Given the description of an element on the screen output the (x, y) to click on. 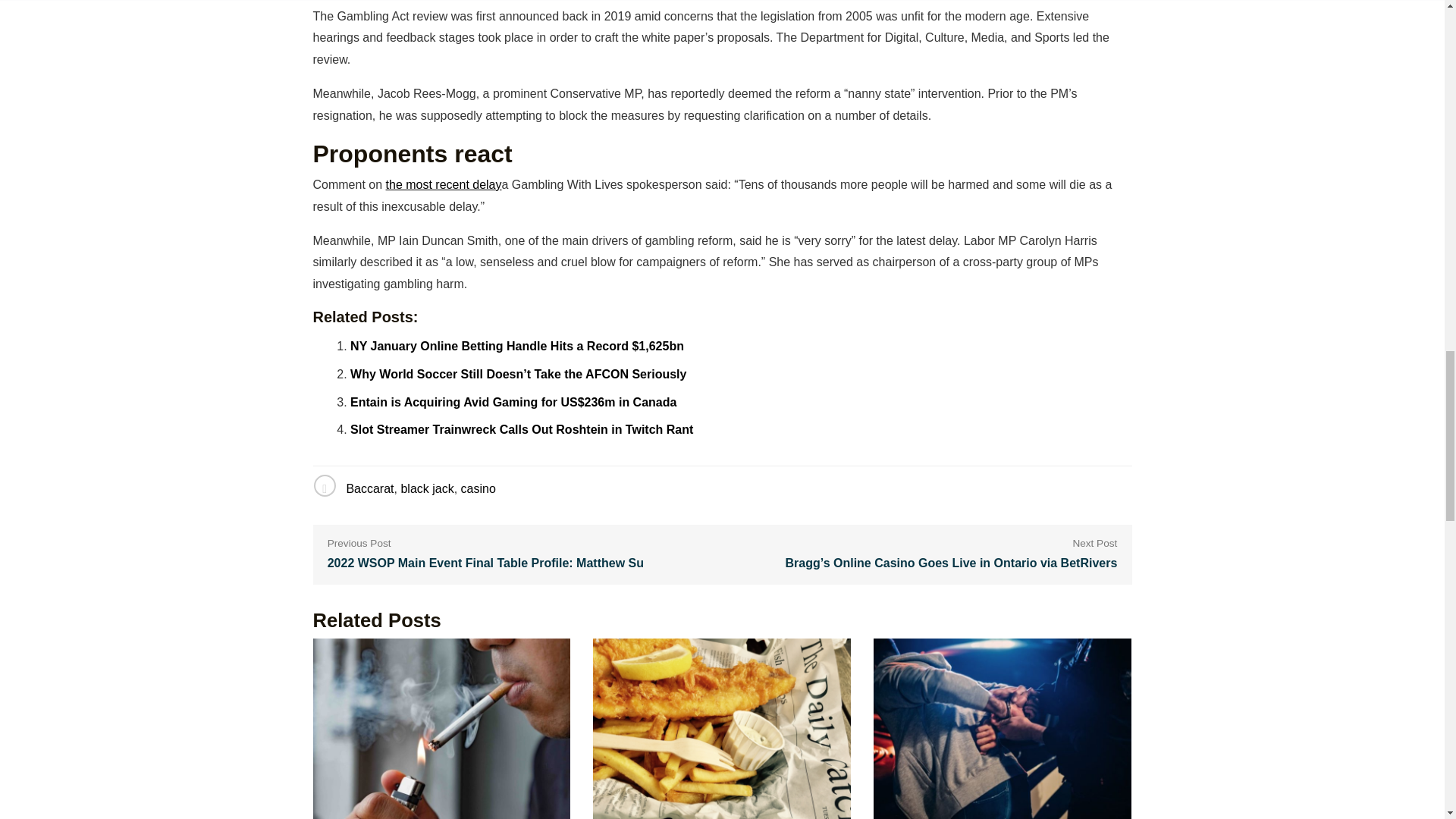
the most recent delay (443, 184)
casino (478, 488)
black jack (426, 488)
Slot Streamer Trainwreck Calls Out Roshtein in Twitch Rant (521, 429)
2022 WSOP Main Event Final Table Profile: Matthew Su (485, 563)
Slot Streamer Trainwreck Calls Out Roshtein in Twitch Rant (521, 429)
Baccarat (369, 488)
